Given the description of an element on the screen output the (x, y) to click on. 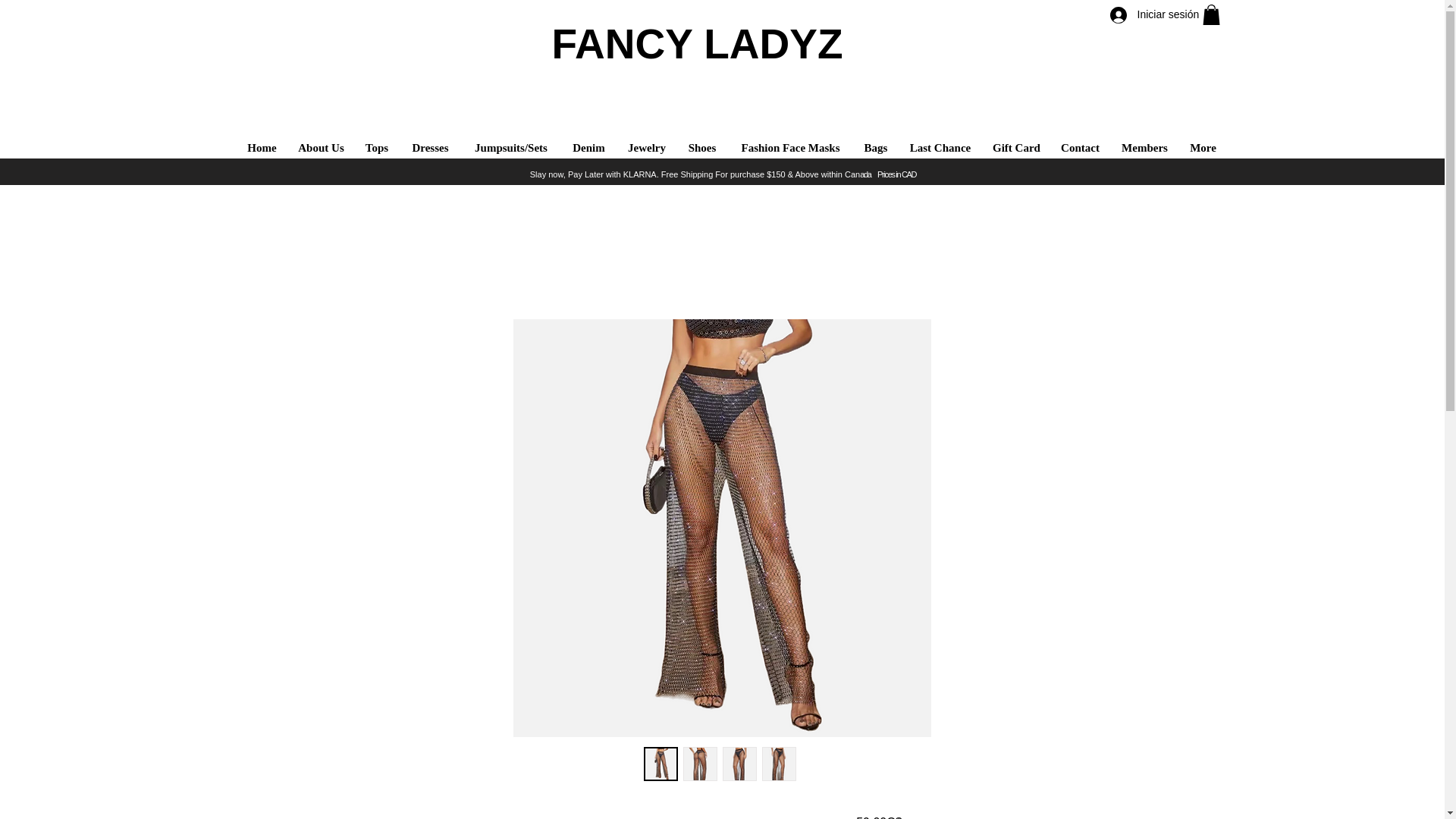
Denim (588, 148)
Home (261, 148)
Smile.io Rewards Program Launcher (81, 780)
Tops (376, 148)
About Us (321, 148)
Members (1144, 148)
Last Chance (939, 148)
Contact (1080, 148)
Bags (875, 148)
Gift Card (1016, 148)
Shoes (701, 148)
Dresses (429, 148)
Jewelry (647, 148)
Fashion Face Masks (790, 148)
